Given the description of an element on the screen output the (x, y) to click on. 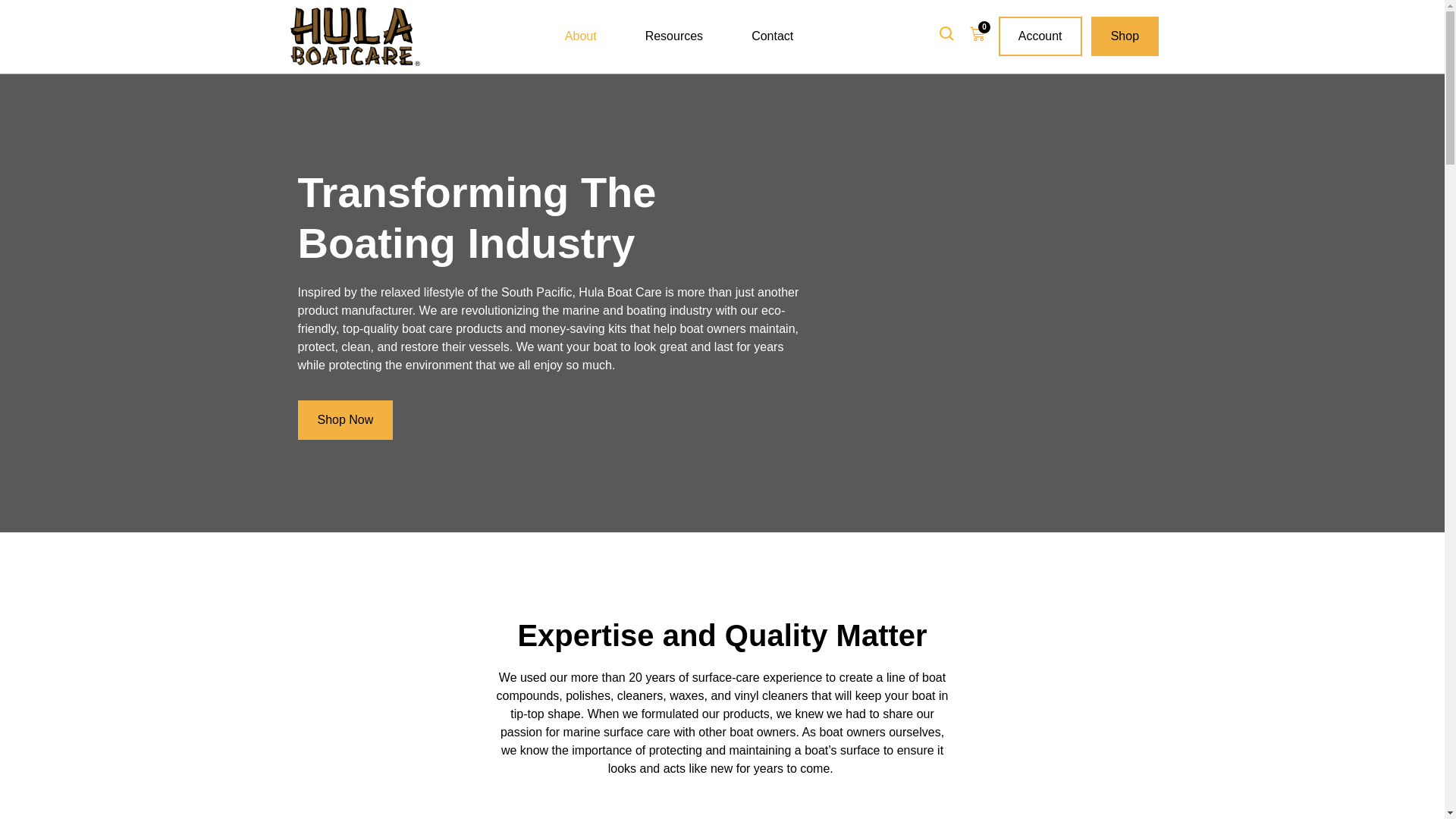
Shop Now (345, 419)
Shop (1124, 36)
Account (1039, 36)
About (580, 36)
Resources (673, 36)
Contact (771, 36)
